Given the description of an element on the screen output the (x, y) to click on. 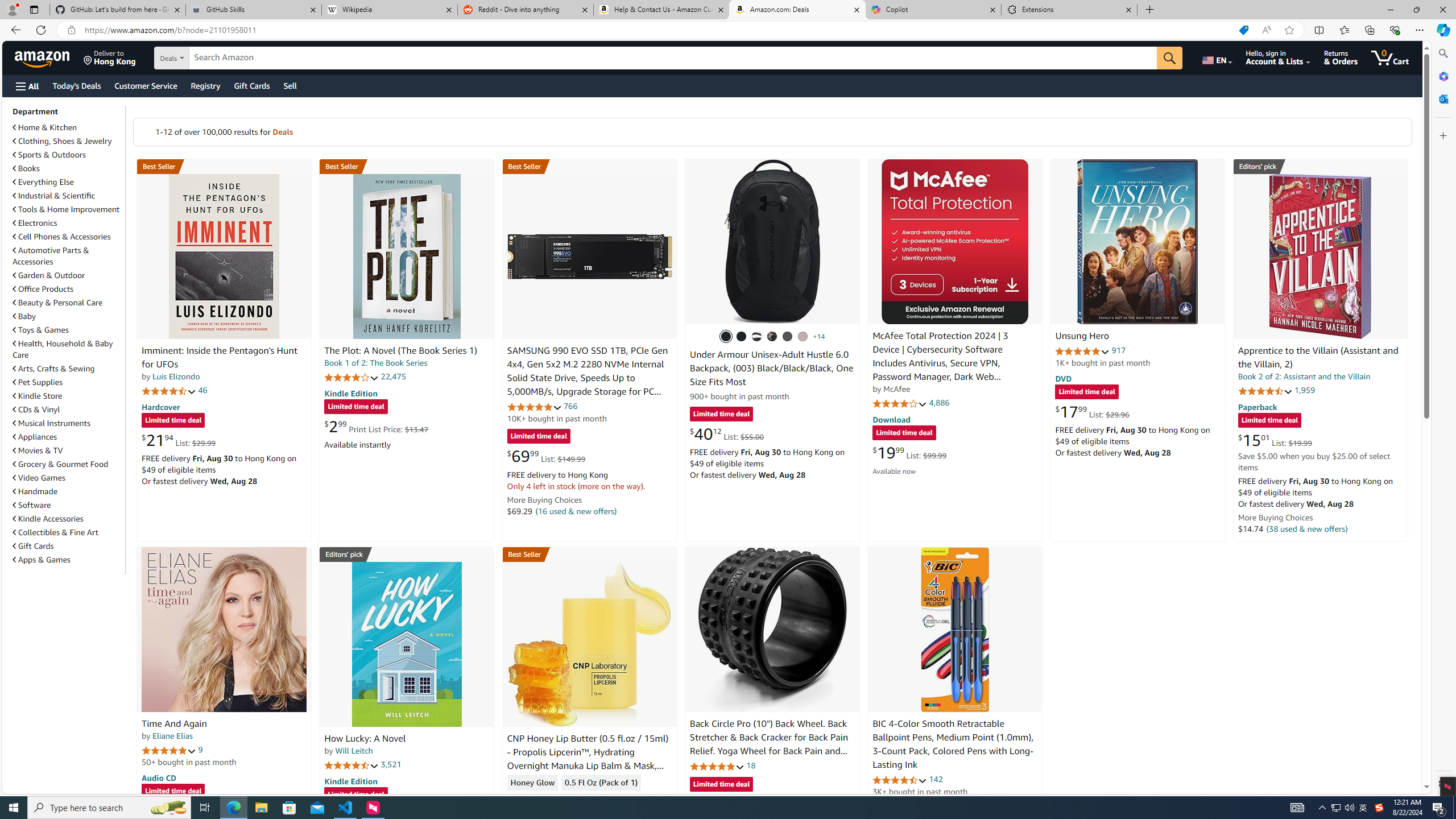
Book 1 of 2: The Book Series (376, 362)
Handmade (35, 491)
Movies & TV (67, 450)
4.3 out of 5 stars (534, 799)
Skip to main content (48, 56)
Software (67, 505)
Kindle Accessories (67, 518)
Imminent: Inside the Pentagon's Hunt for UFOs (219, 358)
Returns & Orders (1340, 57)
CDs & Vinyl (67, 409)
Luis Elizondo (175, 376)
